Given the description of an element on the screen output the (x, y) to click on. 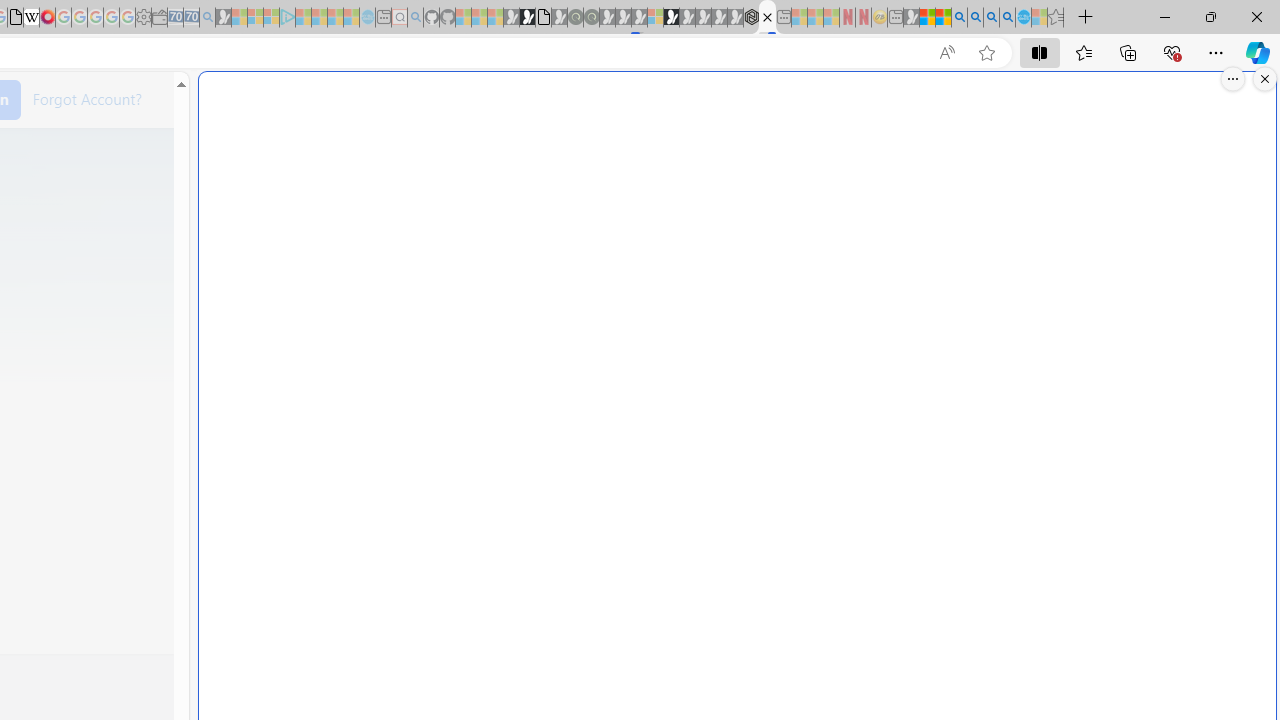
New tab - Sleeping (895, 17)
Wallet - Sleeping (159, 17)
Microsoft Start - Sleeping (335, 17)
Home | Sky Blue Bikes - Sky Blue Bikes - Sleeping (367, 17)
Sign in to your account - Sleeping (655, 17)
